Given the description of an element on the screen output the (x, y) to click on. 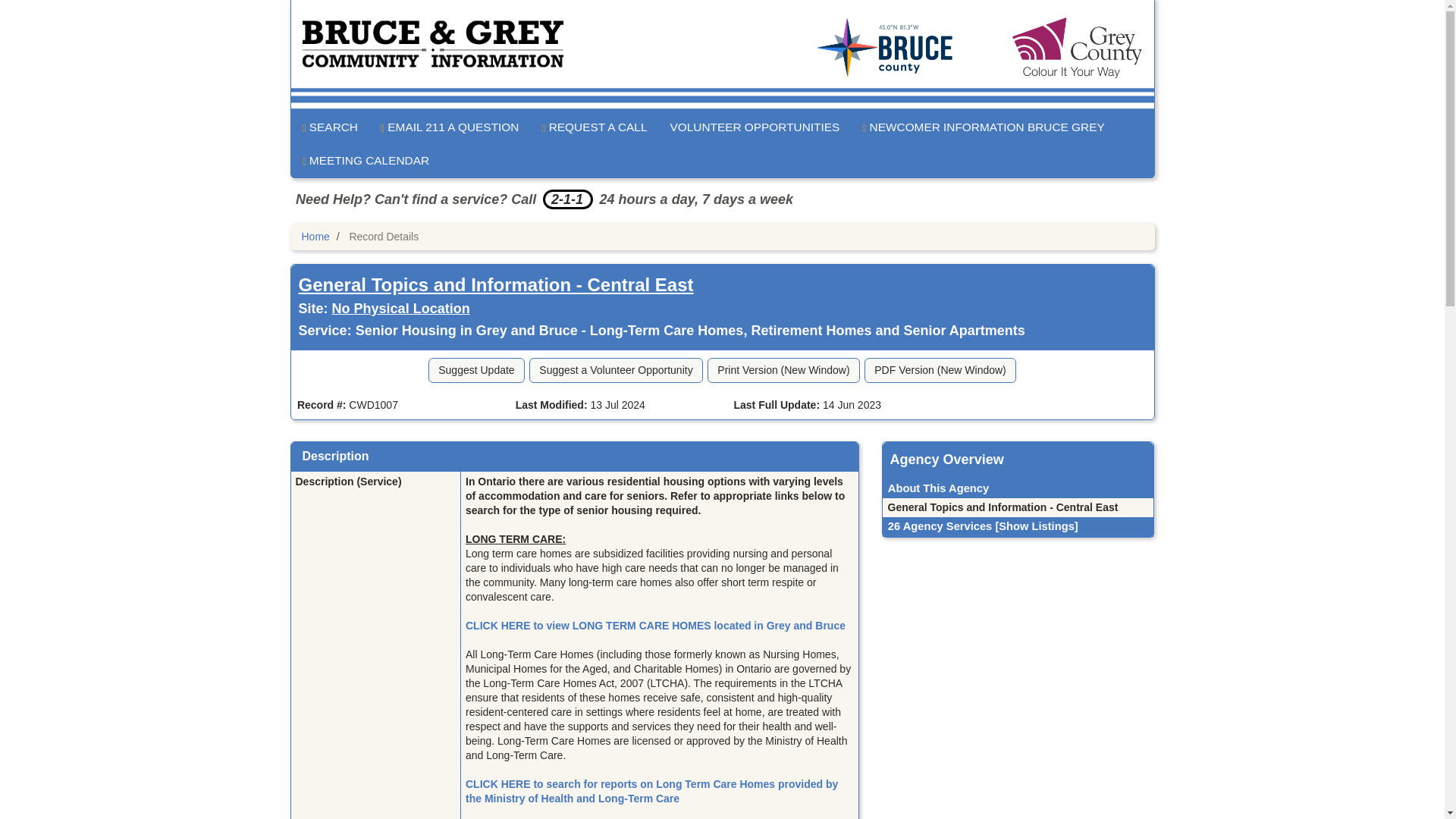
NEWCOMER INFORMATION BRUCE GREY (982, 127)
Suggest Update (476, 370)
CWD1880 (1018, 506)
SEARCH (330, 127)
General Topics and Information - Central East (496, 284)
MEETING CALENDAR (366, 160)
EMAIL 211 A QUESTION (449, 127)
VOLUNTEER OPPORTUNITIES (754, 127)
Home (315, 236)
No Physical Location (400, 308)
Suggest a Volunteer Opportunity (615, 370)
REQUEST A CALL (593, 127)
